Given the description of an element on the screen output the (x, y) to click on. 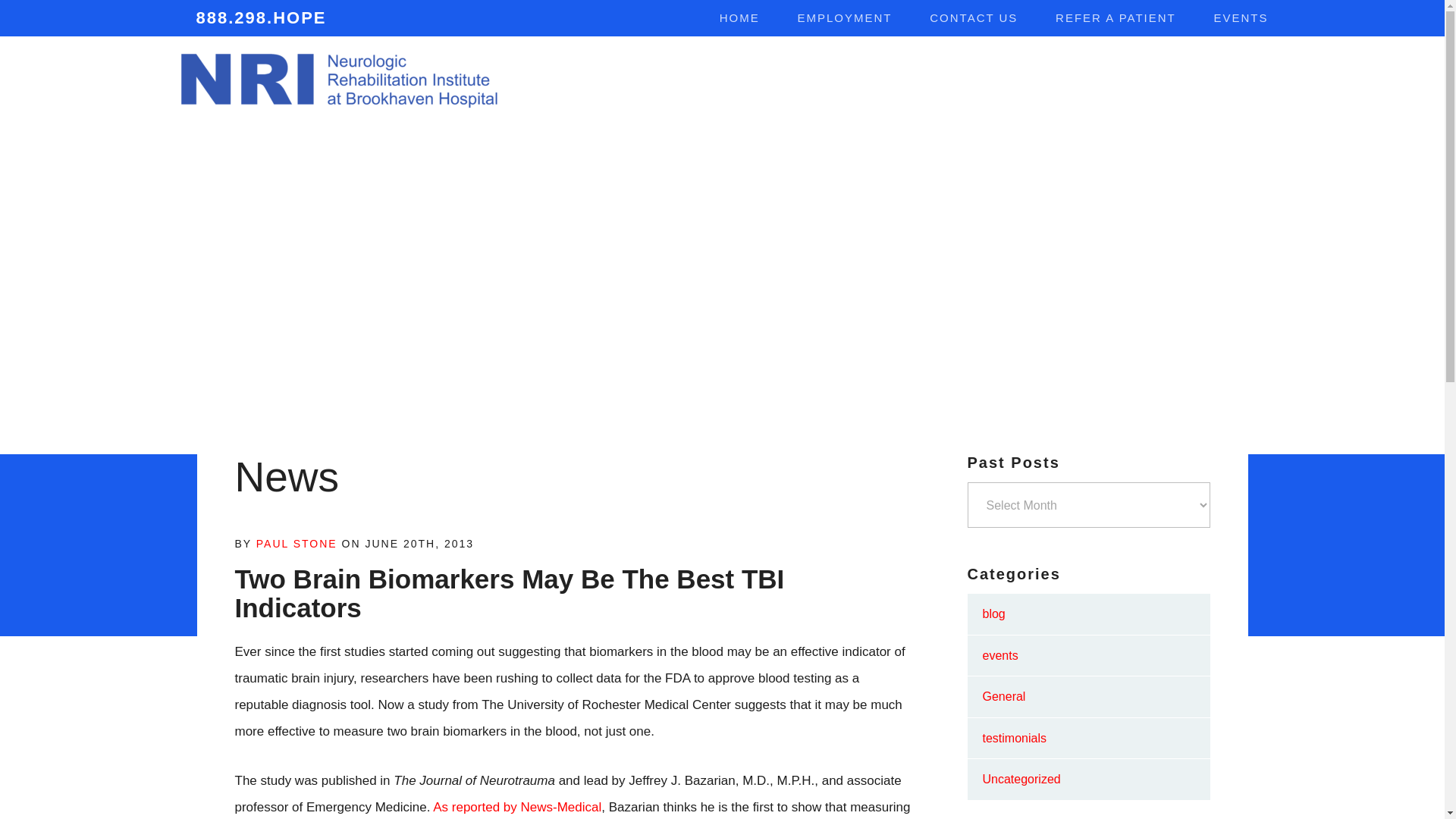
Posts by Paul Stone (296, 542)
REFER A PATIENT (1115, 17)
PROGRAMS (770, 80)
Go (1245, 79)
EVENTS (1240, 17)
EMPLOYMENT (844, 17)
ADMISSIONS PROCESS (1134, 80)
888.298.HOPE (251, 18)
CONTACT US (973, 17)
ABOUT US (654, 80)
HOME (739, 17)
